Given the description of an element on the screen output the (x, y) to click on. 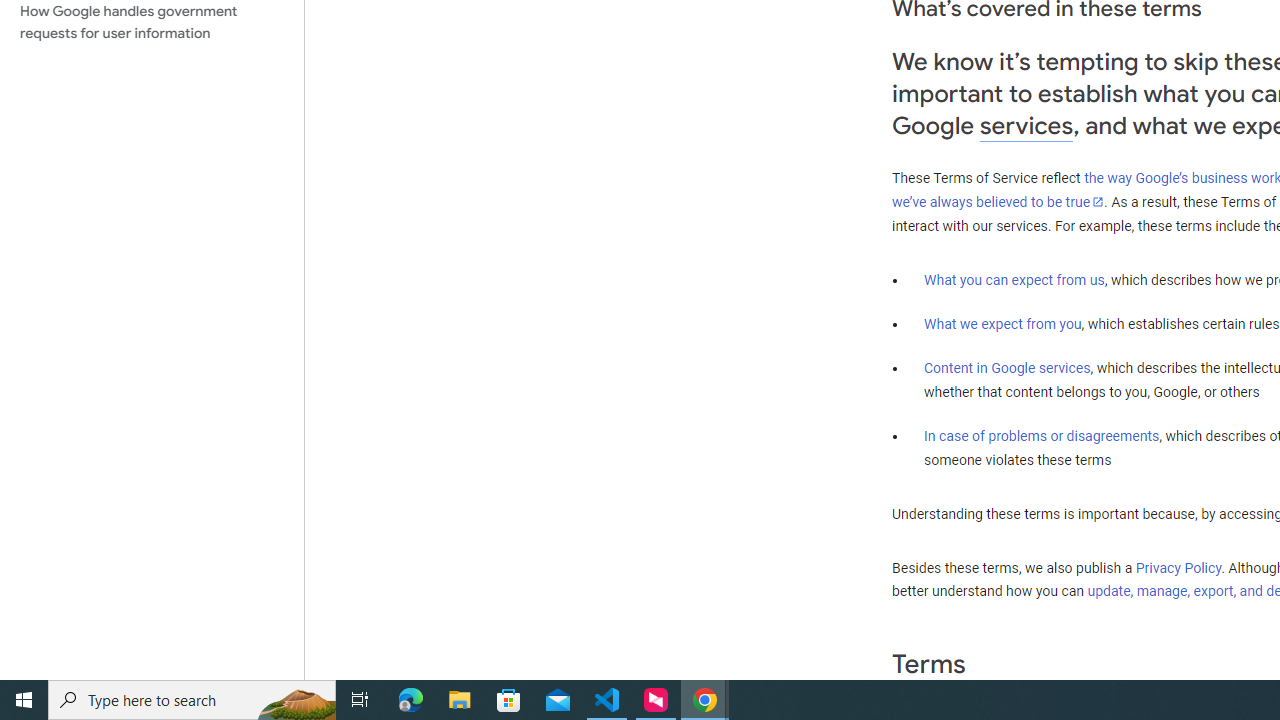
Content in Google services (1007, 368)
In case of problems or disagreements (1041, 435)
What we expect from you (1002, 323)
What you can expect from us (1014, 279)
services (1026, 125)
